Given the description of an element on the screen output the (x, y) to click on. 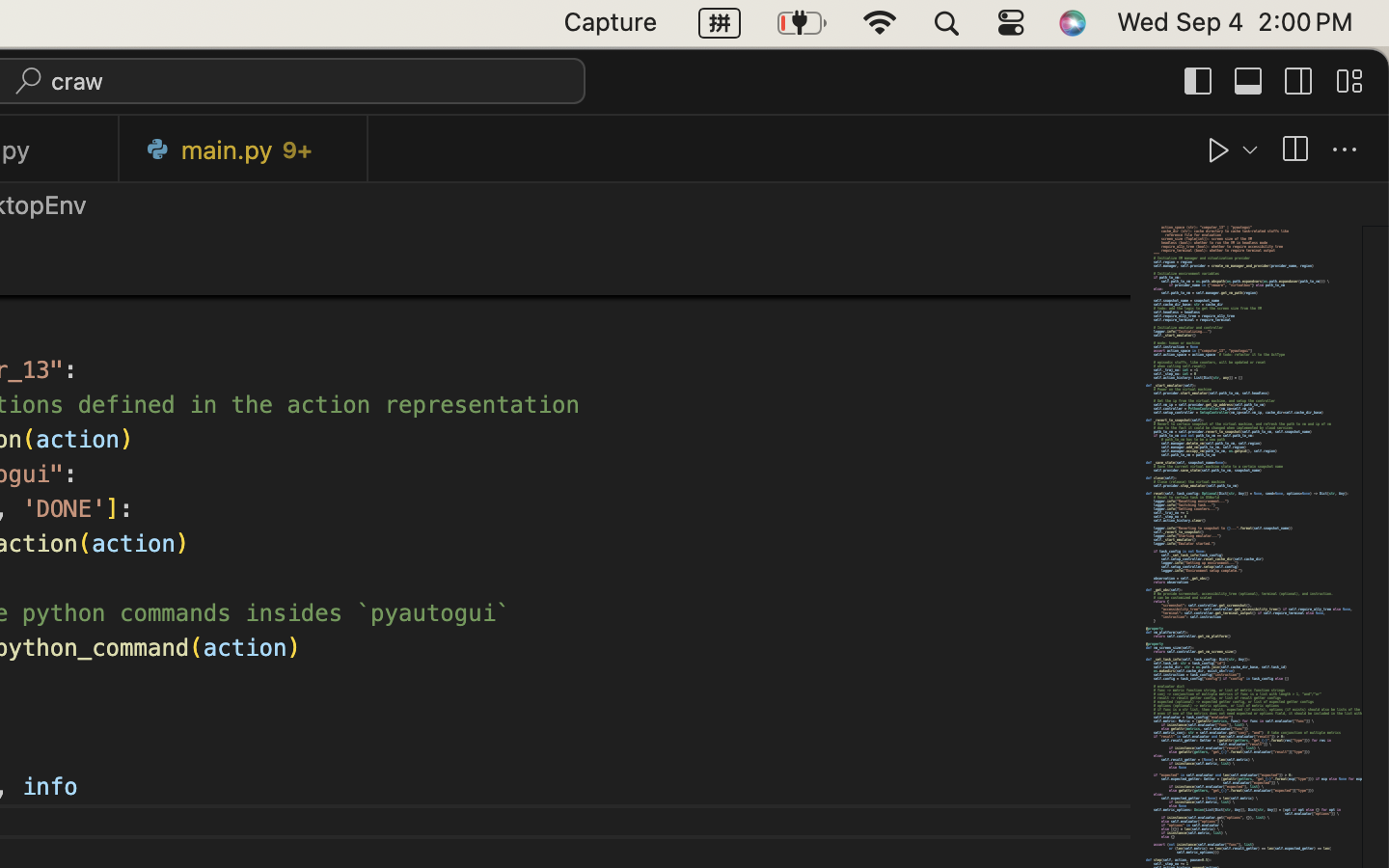
 Element type: AXGroup (1219, 150)
craw Element type: AXStaticText (78, 80)
 Element type: AXCheckBox (1299, 80)
 Element type: AXStaticText (1344, 150)
 Element type: AXCheckBox (1198, 80)
